Given the description of an element on the screen output the (x, y) to click on. 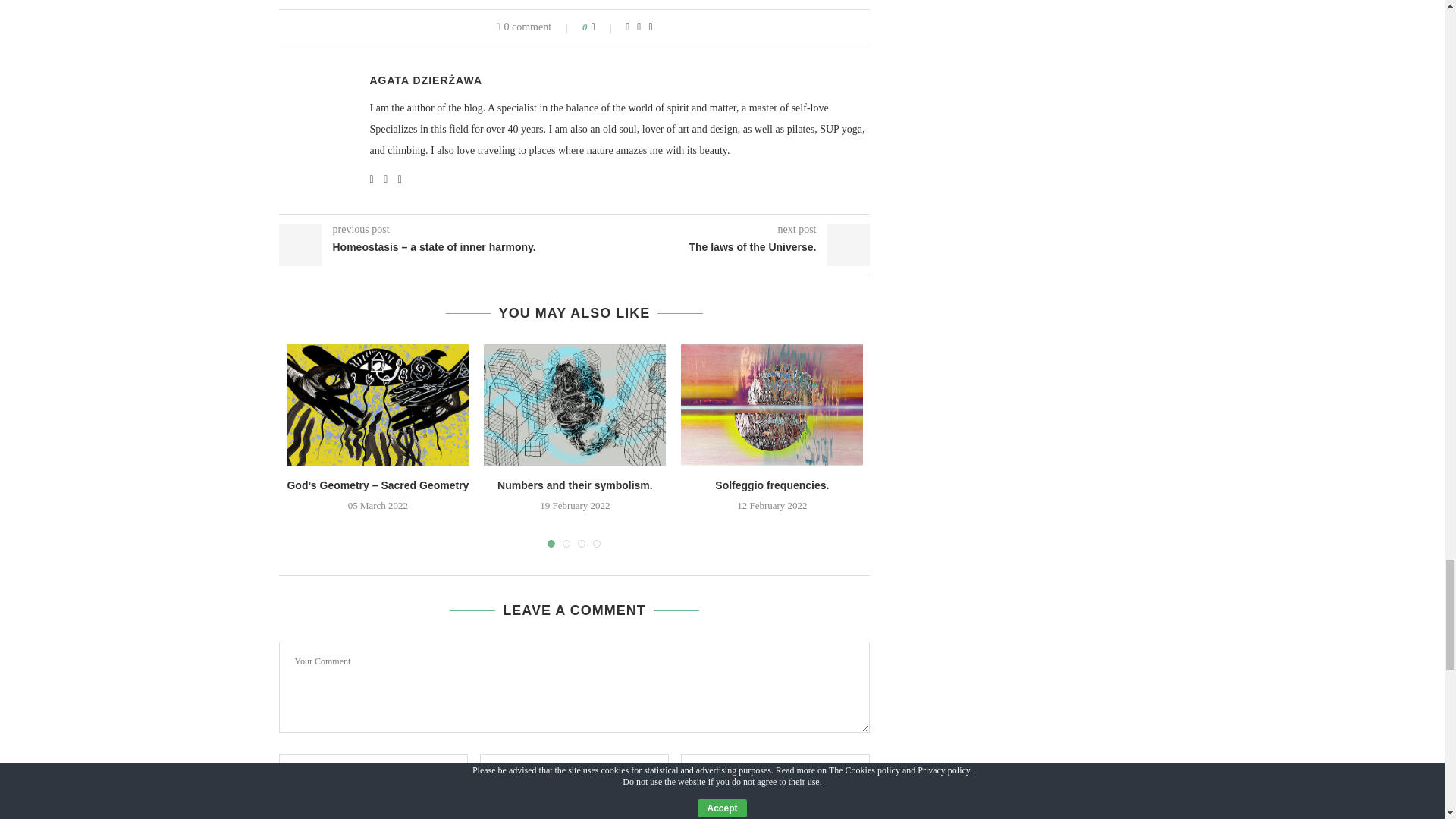
yes (283, 813)
Solfeggio frequencies. (772, 404)
Numbers and their symbolism. (574, 404)
Like (603, 27)
